Given the description of an element on the screen output the (x, y) to click on. 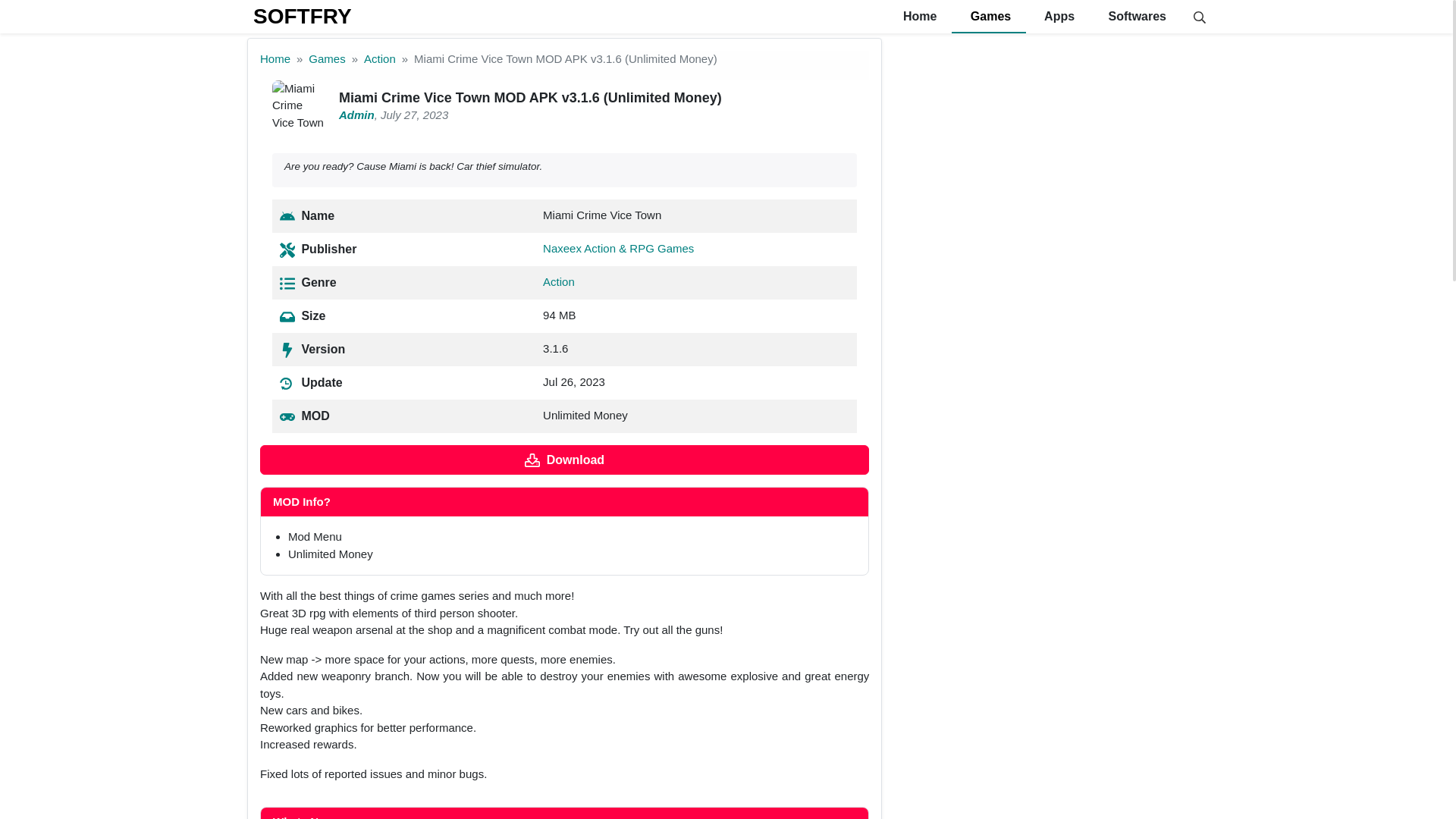
Games (326, 58)
Action (559, 281)
 Home (917, 16)
Download (564, 460)
 Apps (1057, 16)
Whats New (563, 813)
 Softwares (1134, 16)
Action (380, 58)
 Games (989, 16)
MOD Info? (563, 501)
SOFTFRY (302, 15)
Admin (356, 114)
Home (274, 58)
